Given the description of an element on the screen output the (x, y) to click on. 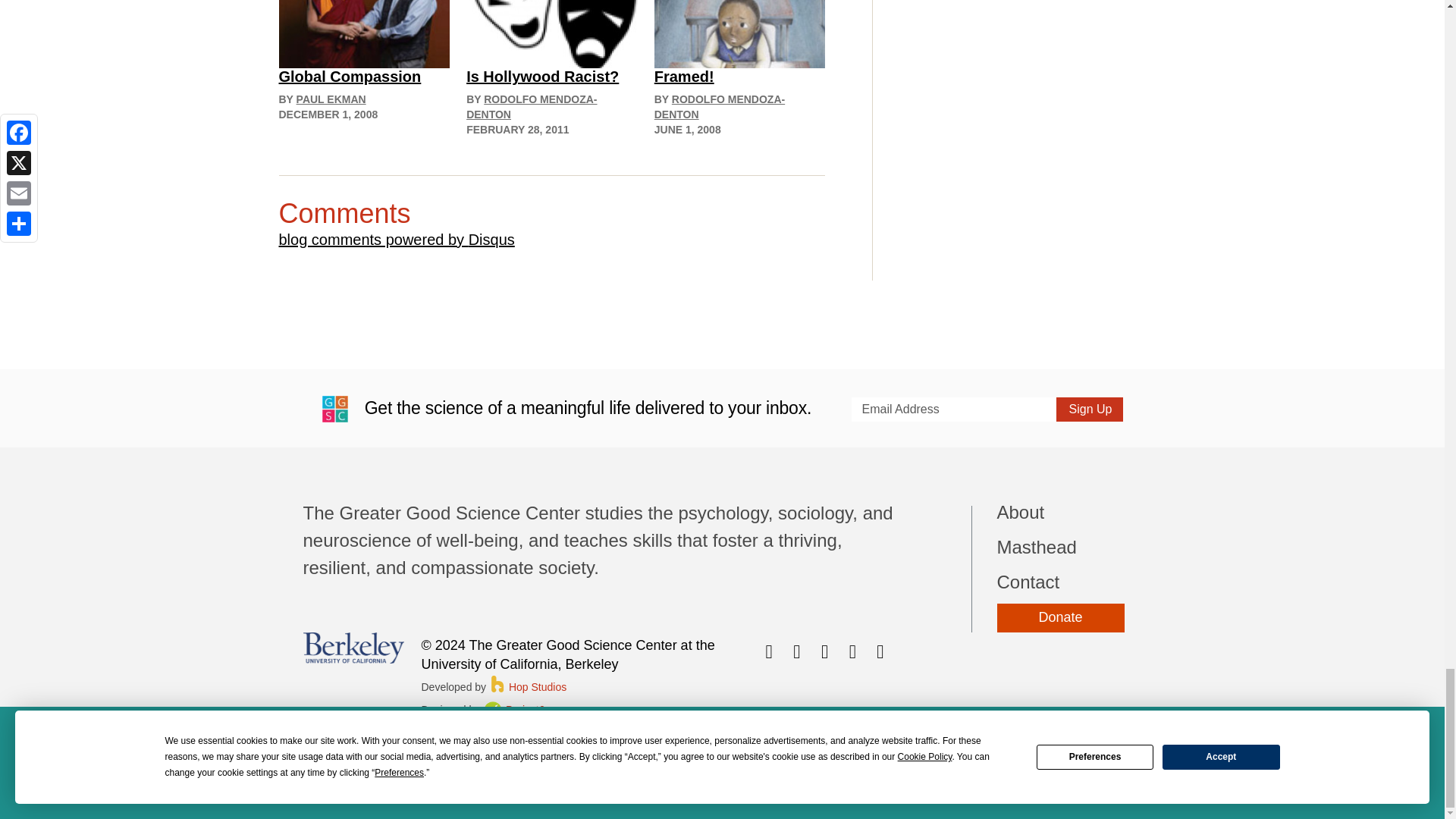
Sign Up (1088, 409)
